Given the description of an element on the screen output the (x, y) to click on. 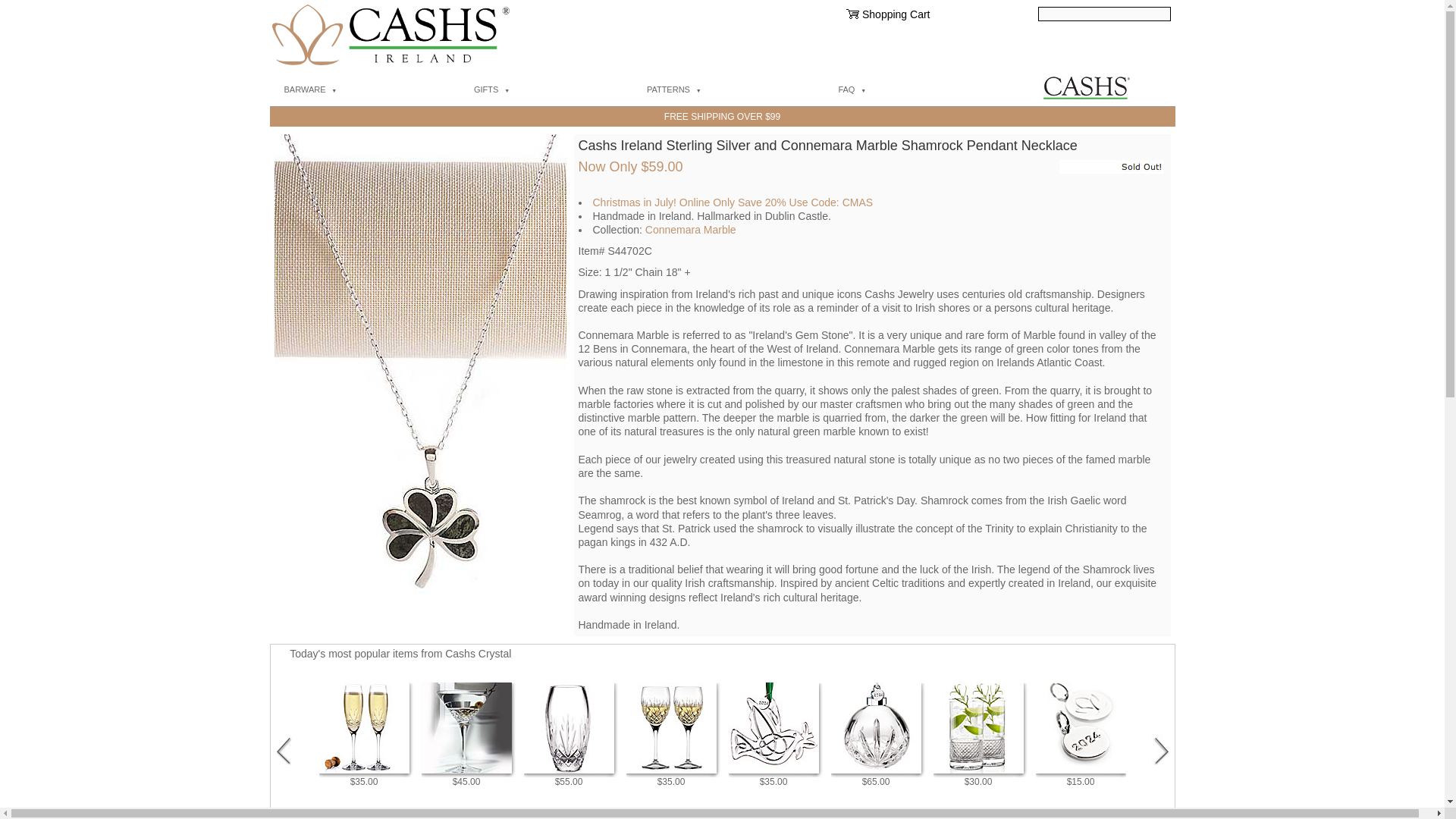
BARWARE (365, 90)
GIFTS (547, 90)
Shopping Cart (895, 14)
FAQ (908, 90)
PATTERNS (730, 90)
